Given the description of an element on the screen output the (x, y) to click on. 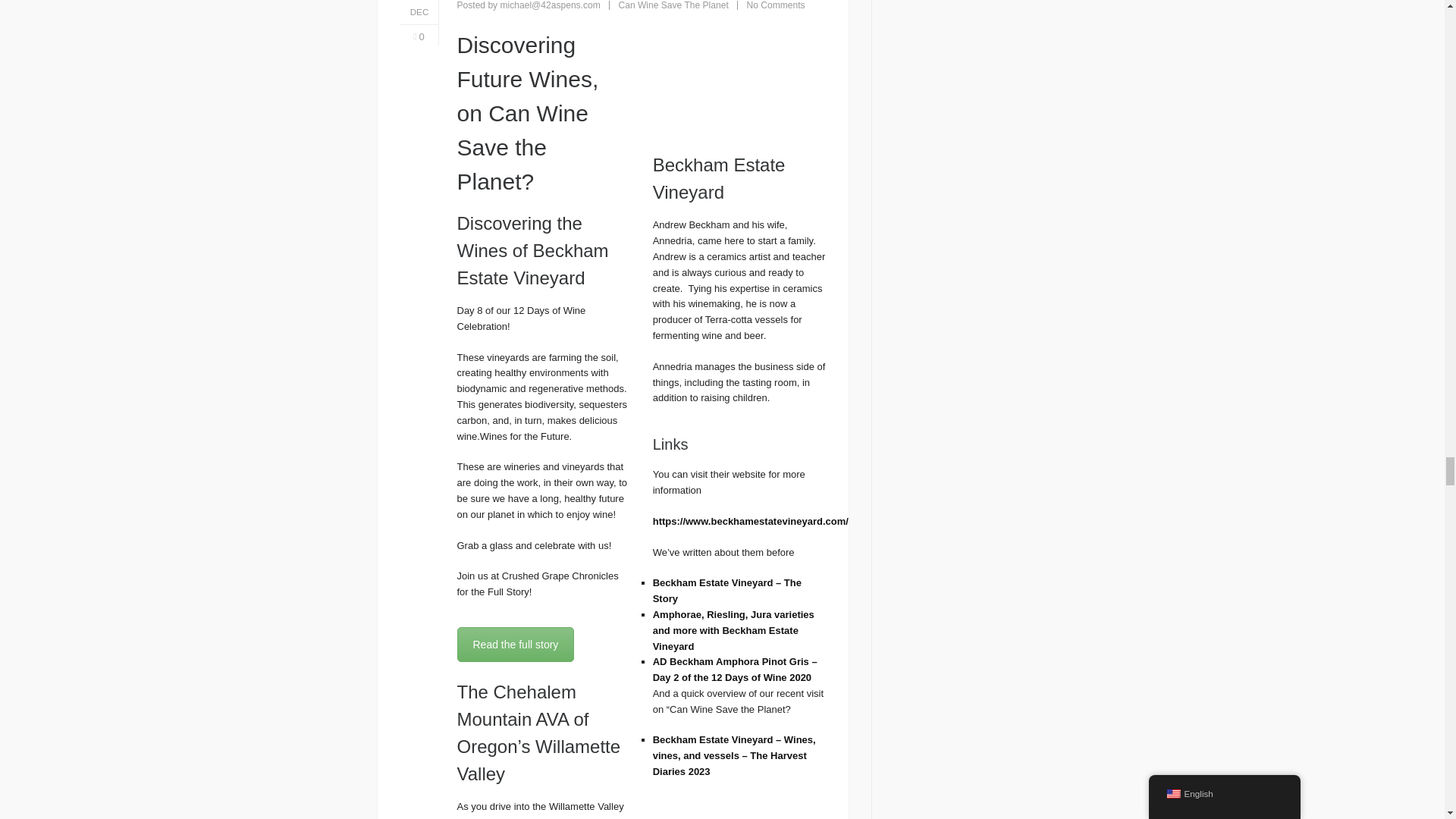
No Comments (775, 5)
